Given the description of an element on the screen output the (x, y) to click on. 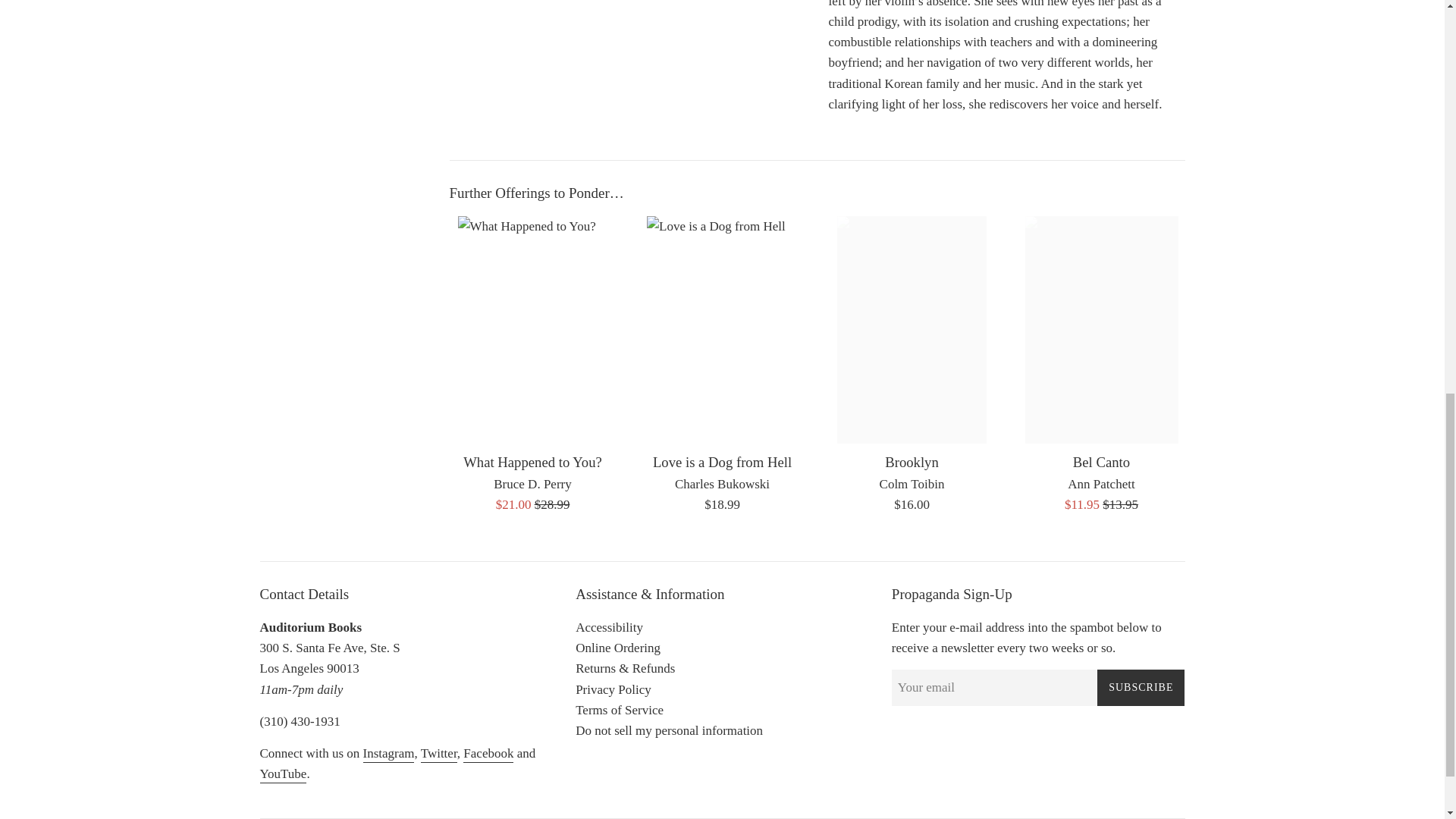
Instagram (387, 754)
Auditorium Books Twitter (438, 754)
Bel Canto (1101, 462)
Facebook (488, 754)
Brooklyn (912, 462)
What Happened to You? (532, 462)
Accessibility (609, 626)
Twitter (438, 754)
Auditorium Books Instagram (387, 754)
Love is a Dog from Hell (722, 462)
